Given the description of an element on the screen output the (x, y) to click on. 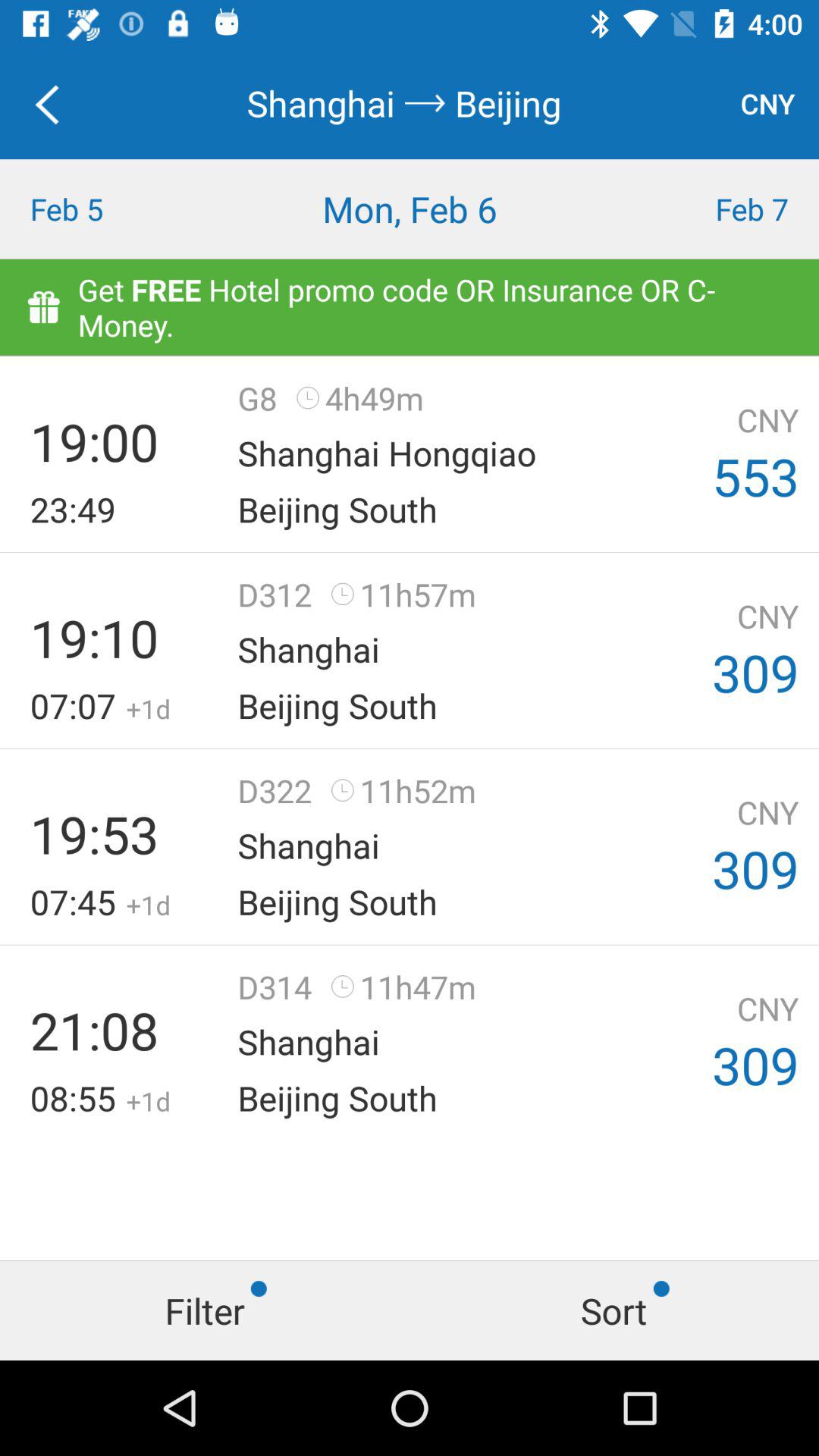
launch the icon below the cny (716, 208)
